Given the description of an element on the screen output the (x, y) to click on. 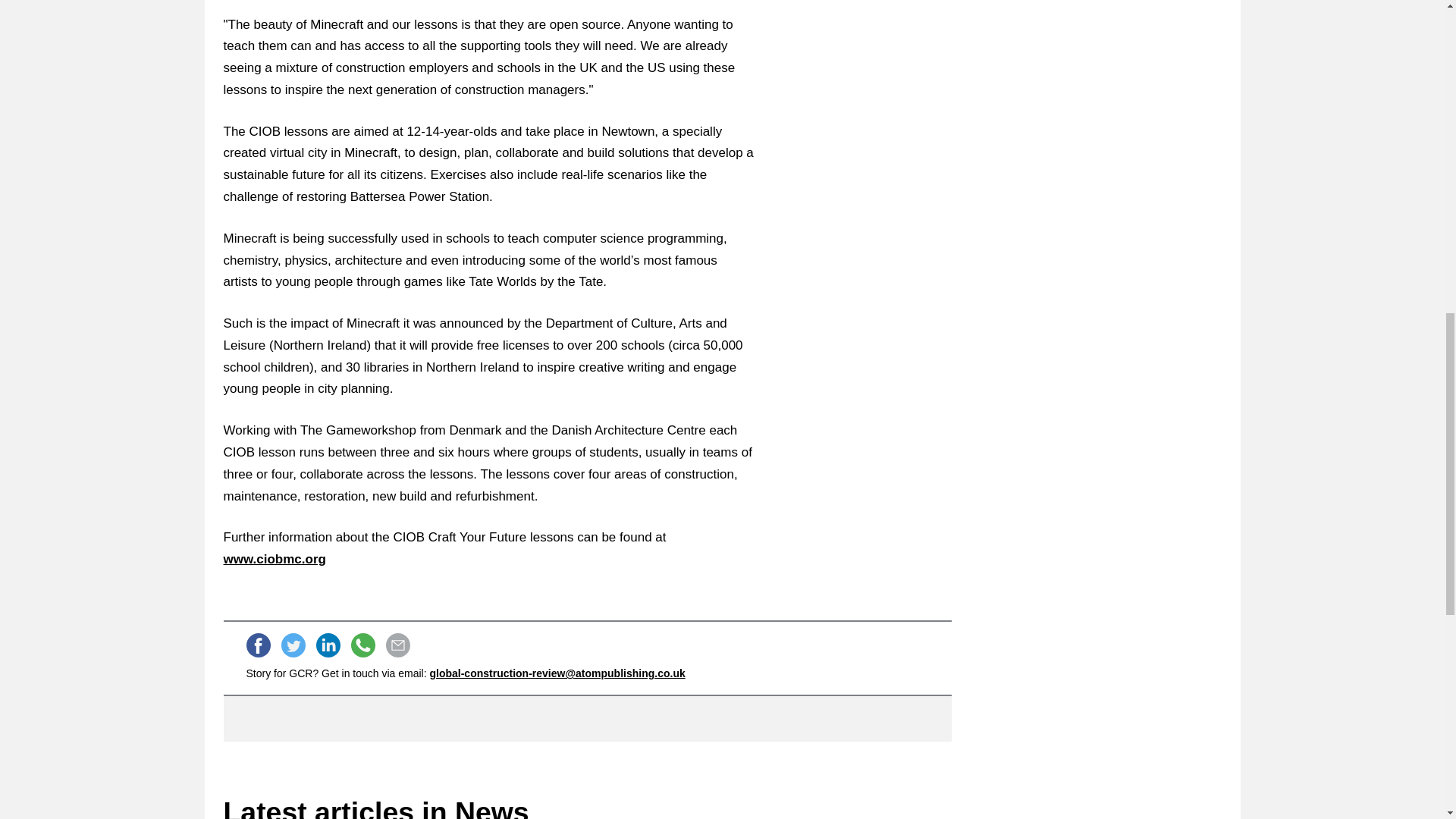
Tweet (292, 645)
Share on WhatsApp (362, 645)
Send email (397, 645)
Share on Facebook (257, 645)
Share on LinkedIn (327, 645)
